Given the description of an element on the screen output the (x, y) to click on. 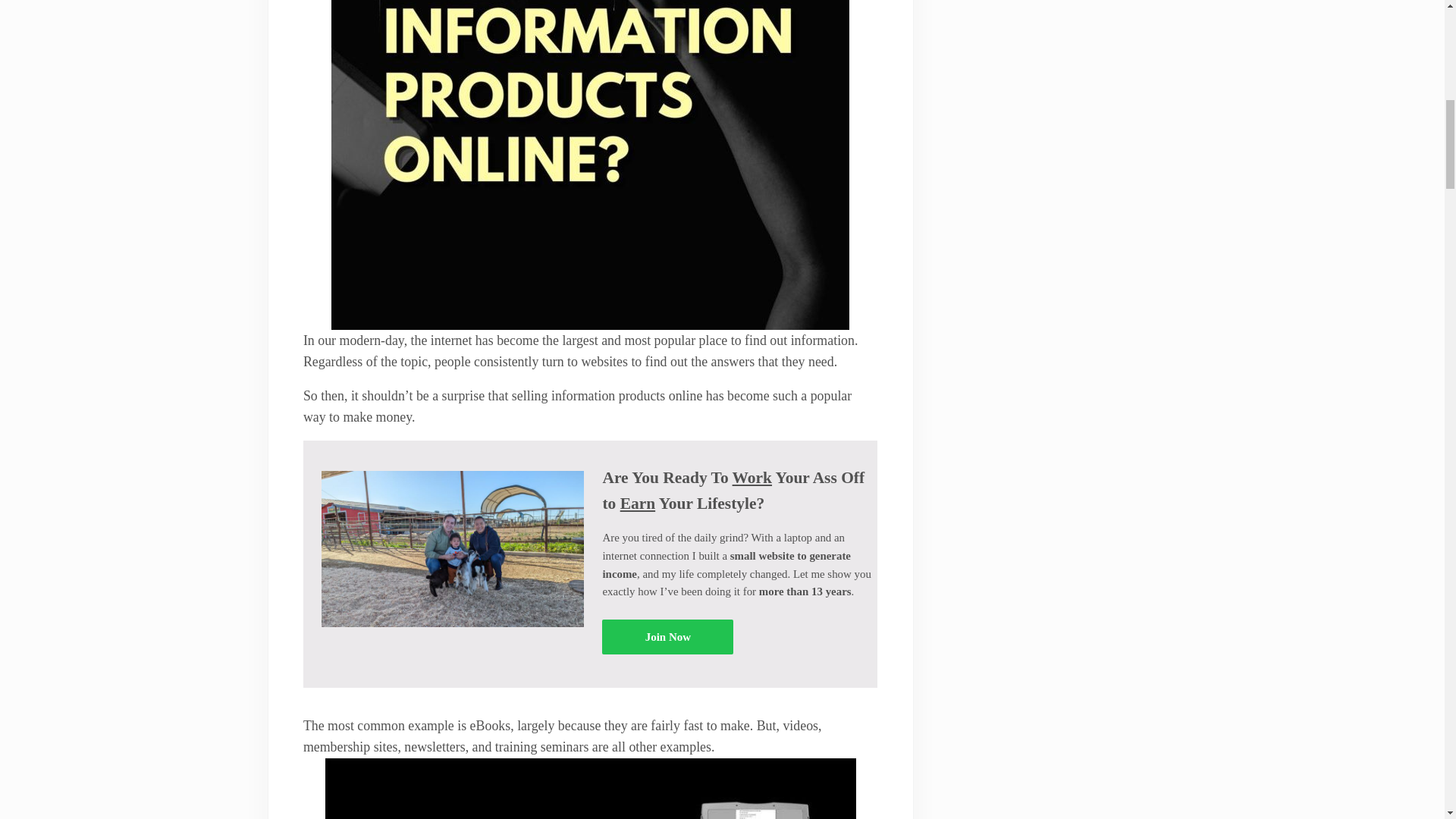
Make Money Selling Information Products (590, 788)
Join Now (667, 636)
familyfarmphoto (453, 548)
